Given the description of an element on the screen output the (x, y) to click on. 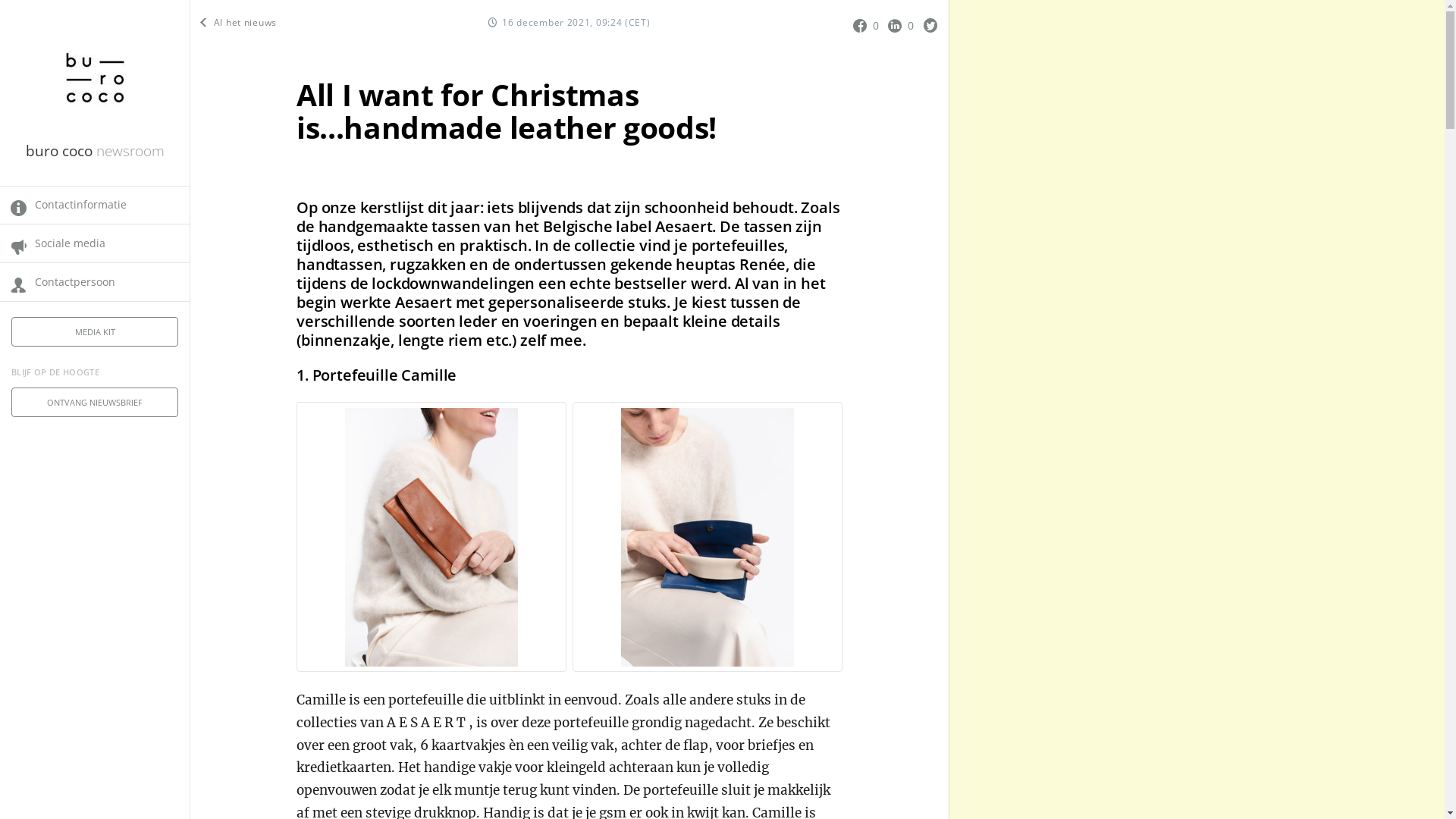
0 Element type: text (902, 25)
buro coco newsroom Element type: text (94, 150)
Al het nieuws Element type: text (238, 21)
Contactpersoon Element type: text (94, 282)
0 Element type: text (867, 25)
ONTVANG NIEUWSBRIEF Element type: text (94, 402)
Aesaert_Griet_BA-144.jpg Element type: hover (707, 536)
Sociale media Element type: text (94, 243)
Contactinformatie Element type: text (94, 205)
MEDIA KIT Element type: text (94, 331)
Deel deze pagina op Twitter Element type: hover (930, 25)
Aesaert_Griet_BA-149.jpg Element type: hover (431, 536)
